Given the description of an element on the screen output the (x, y) to click on. 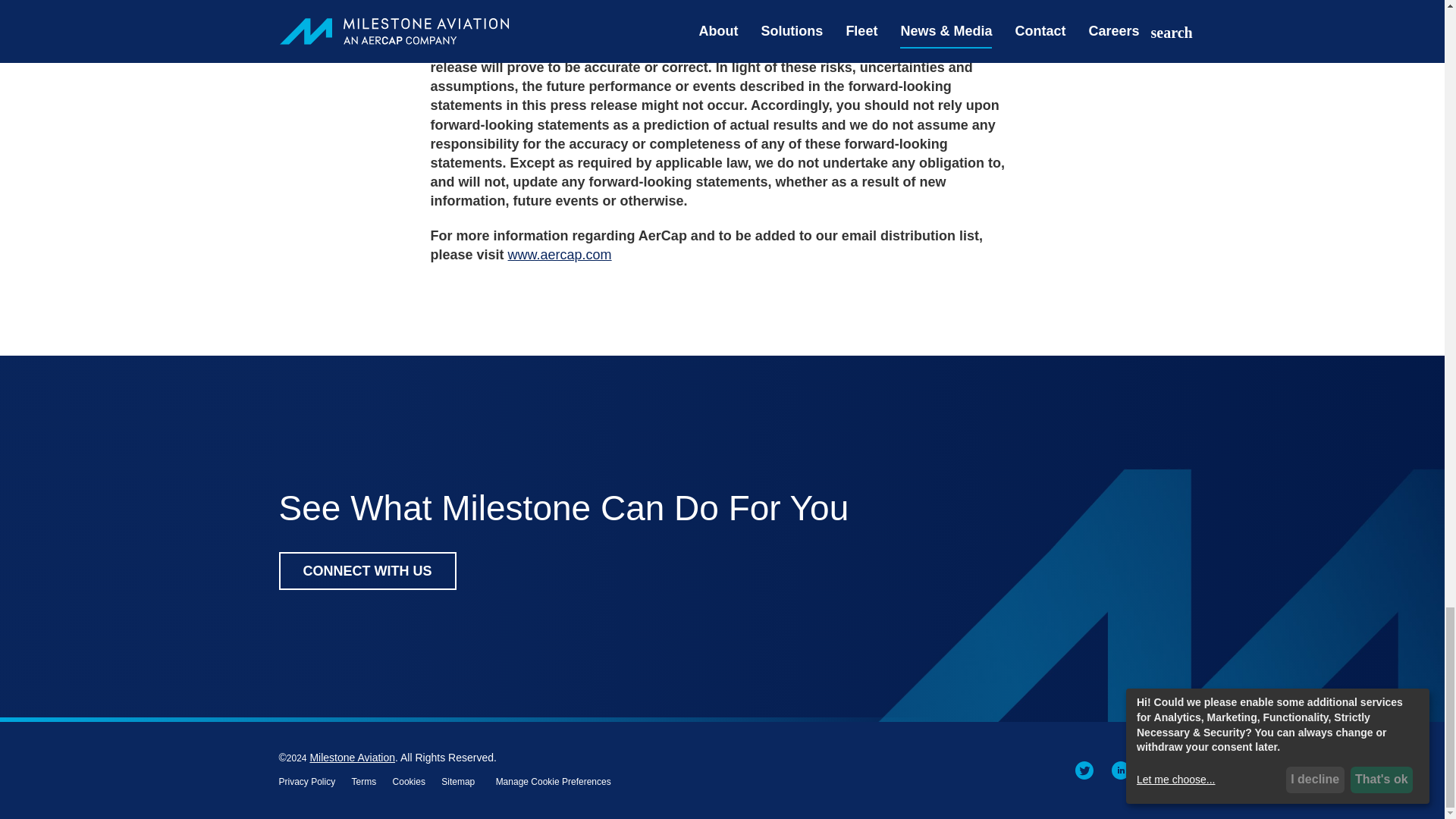
Opens in a new window (1120, 769)
Opens in a new window (364, 781)
Privacy Policy (307, 781)
CONNECT WITH US (368, 570)
Cookies (409, 781)
Manage Cookie Preferences (553, 781)
Terms (364, 781)
Opens in a new window (1157, 769)
Milestone Aviation (351, 757)
Opens in a new window (1084, 769)
